Given the description of an element on the screen output the (x, y) to click on. 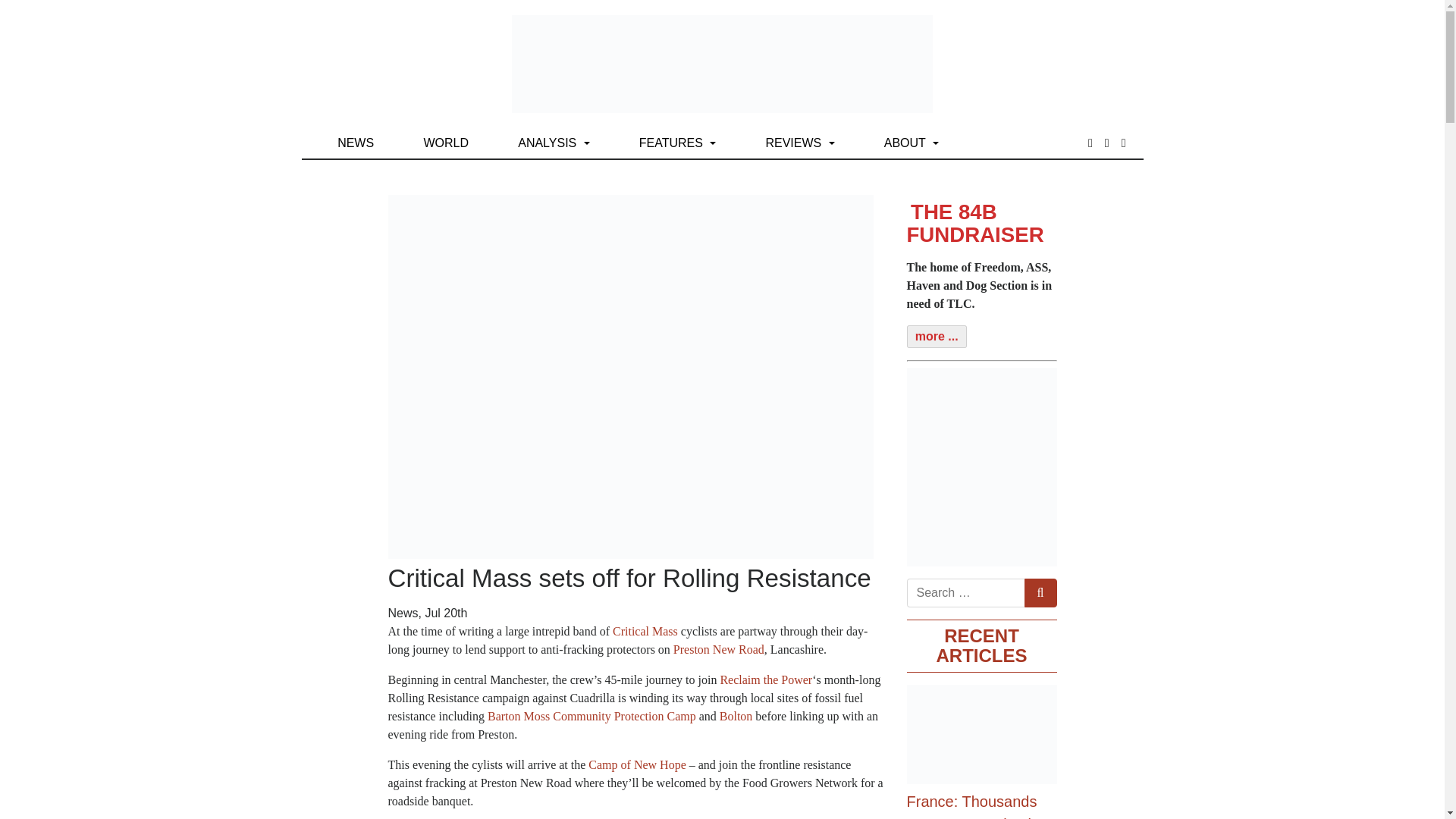
Critical Mass (645, 631)
News (355, 142)
Analysis (553, 142)
FEATURES (677, 142)
World (445, 142)
Reviews (799, 142)
Camp of New Hope (636, 764)
ABOUT (910, 142)
WORLD (445, 142)
About (910, 142)
Reclaim the Power (765, 679)
ANALYSIS (553, 142)
Barton Moss Community Protection Camp (591, 716)
Bolton (735, 716)
